Given the description of an element on the screen output the (x, y) to click on. 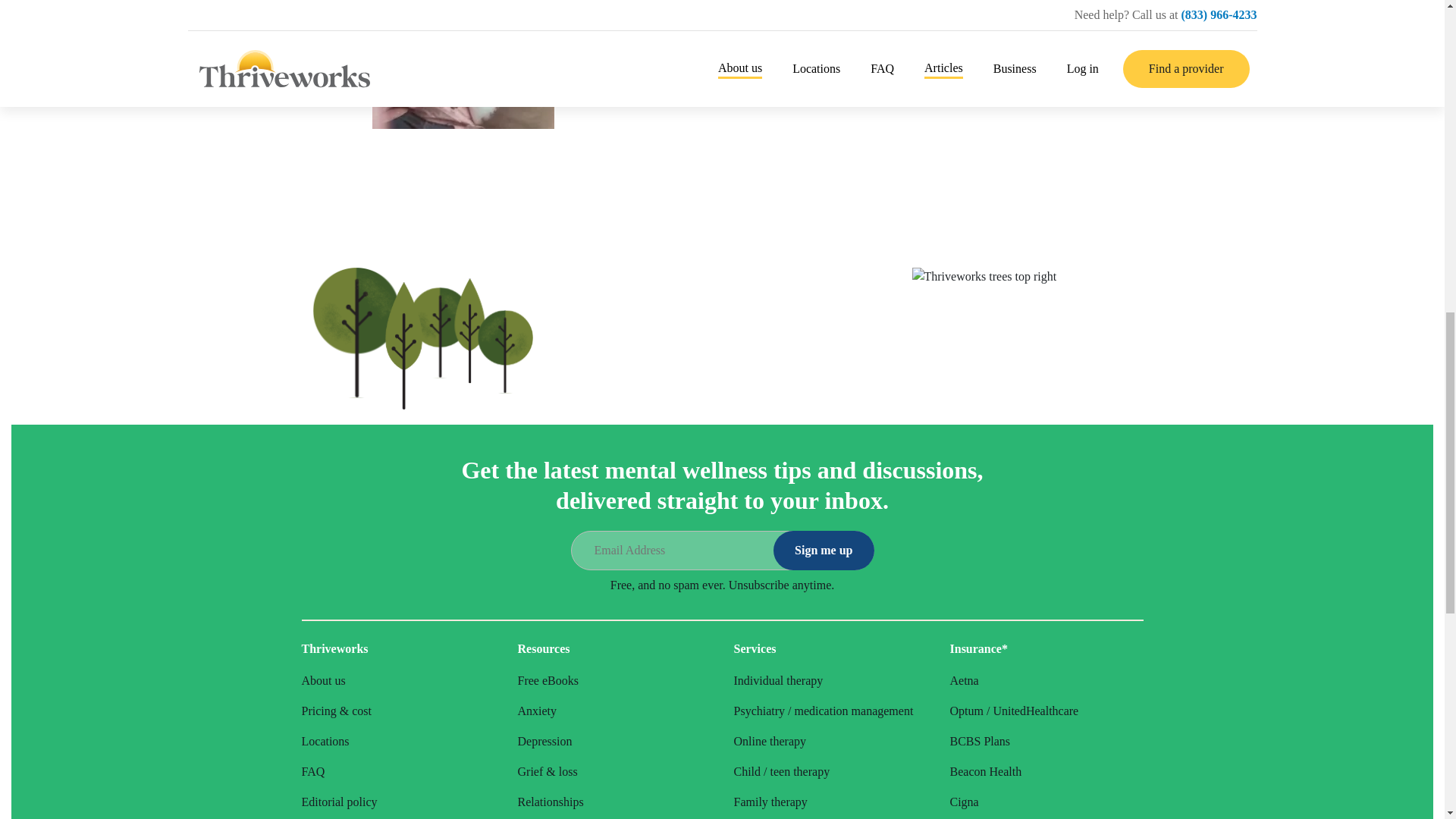
Sign me up (823, 550)
